Given the description of an element on the screen output the (x, y) to click on. 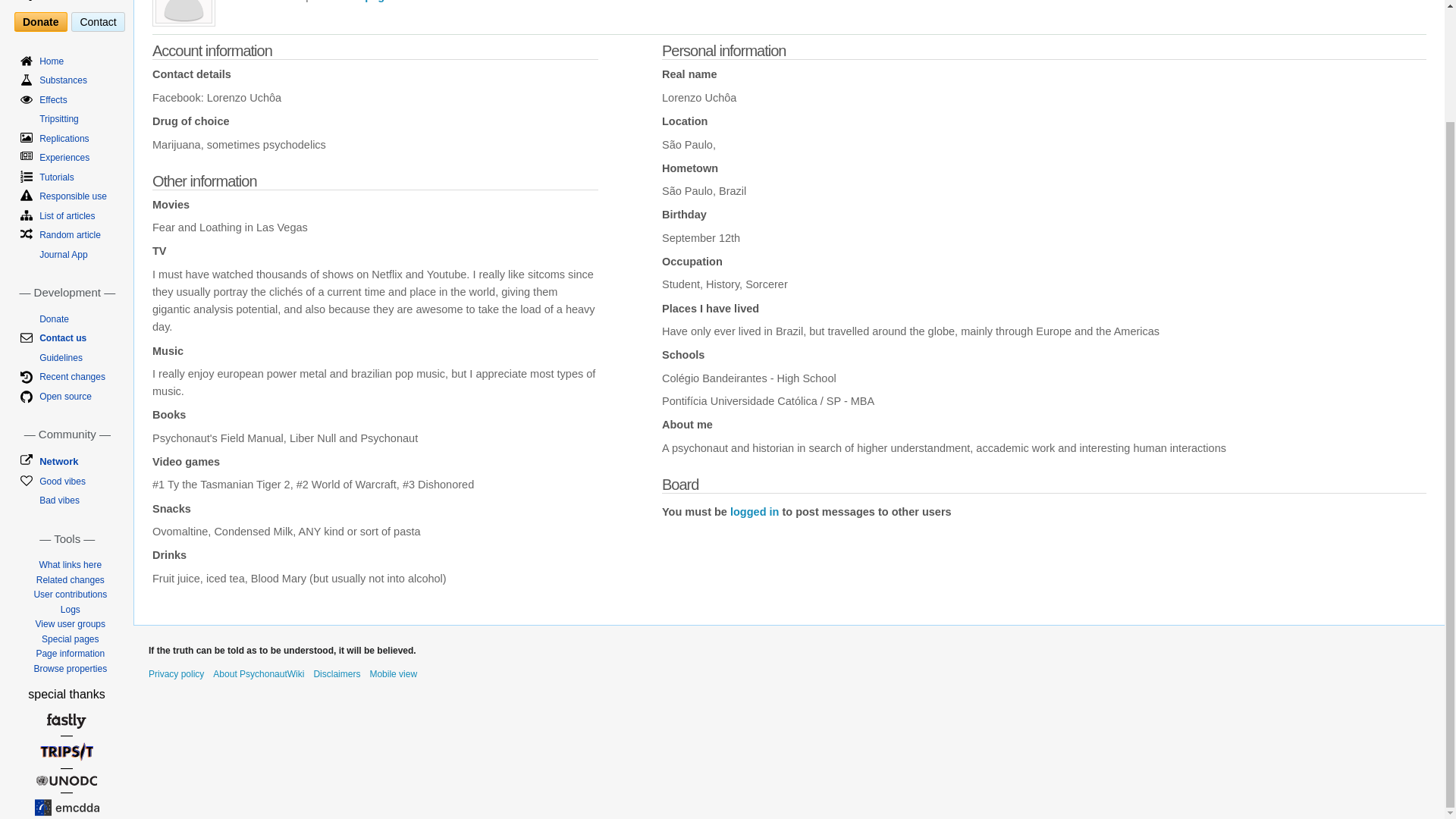
Tutorials (56, 176)
More information about this page (69, 653)
Random article (69, 235)
Project:Privacy policy (175, 674)
Donate (39, 21)
Donate (53, 318)
Network (58, 460)
Open source (65, 396)
Effects (52, 100)
List of articles (66, 215)
Guidelines (60, 357)
logged in (754, 511)
Project:About (258, 674)
Substances (63, 80)
Contributions (261, 1)
